Given the description of an element on the screen output the (x, y) to click on. 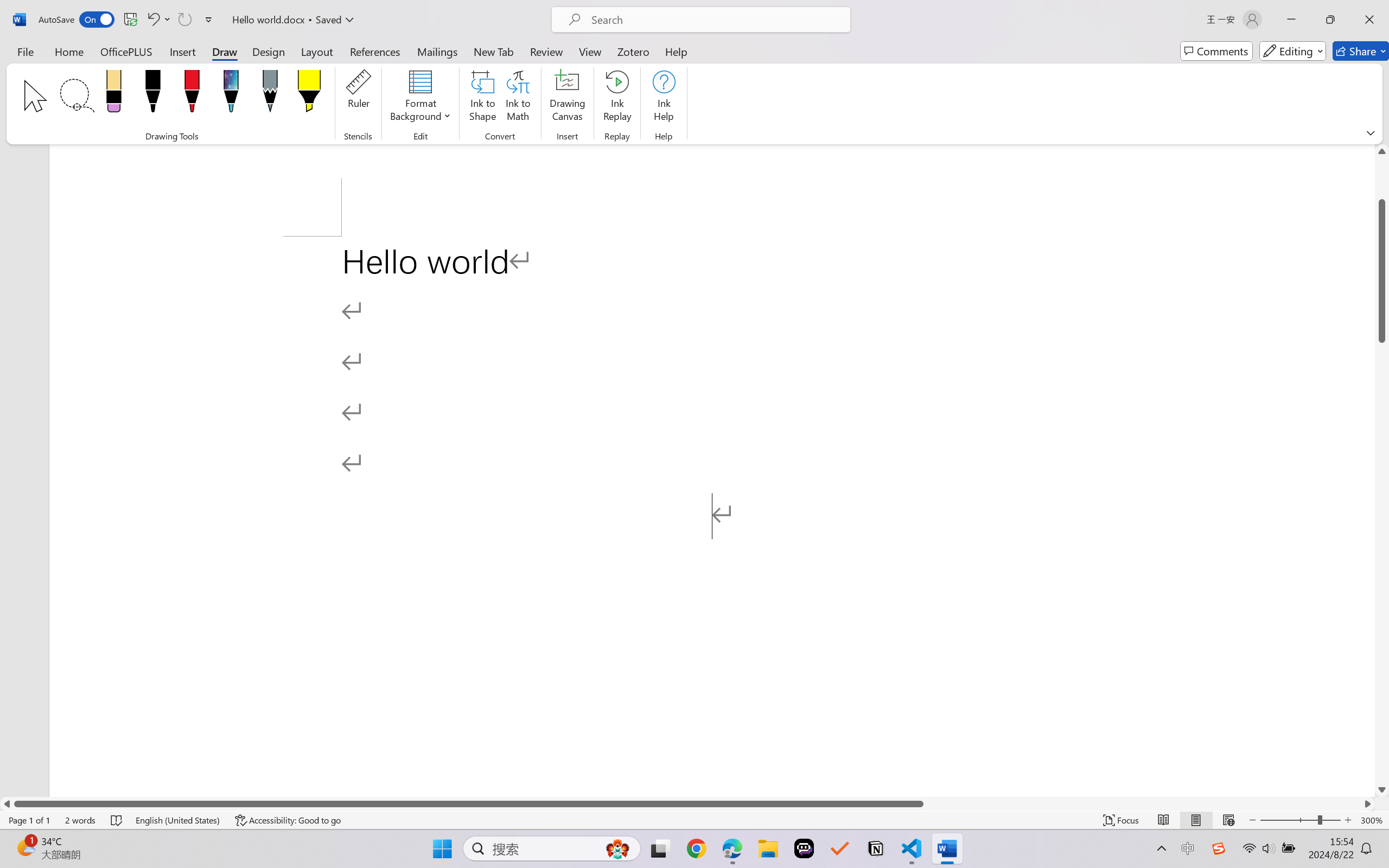
Ink to Math (517, 97)
Restore Down (1330, 19)
Customize Quick Access Toolbar (208, 19)
Ribbon Display Options (1370, 132)
Focus  (1121, 819)
Design (268, 51)
Page right (1142, 803)
Zoom (1300, 819)
Drawing Canvas (567, 97)
Class: NetUIScrollBar (687, 803)
Share (1360, 51)
Class: Image (1218, 847)
